Given the description of an element on the screen output the (x, y) to click on. 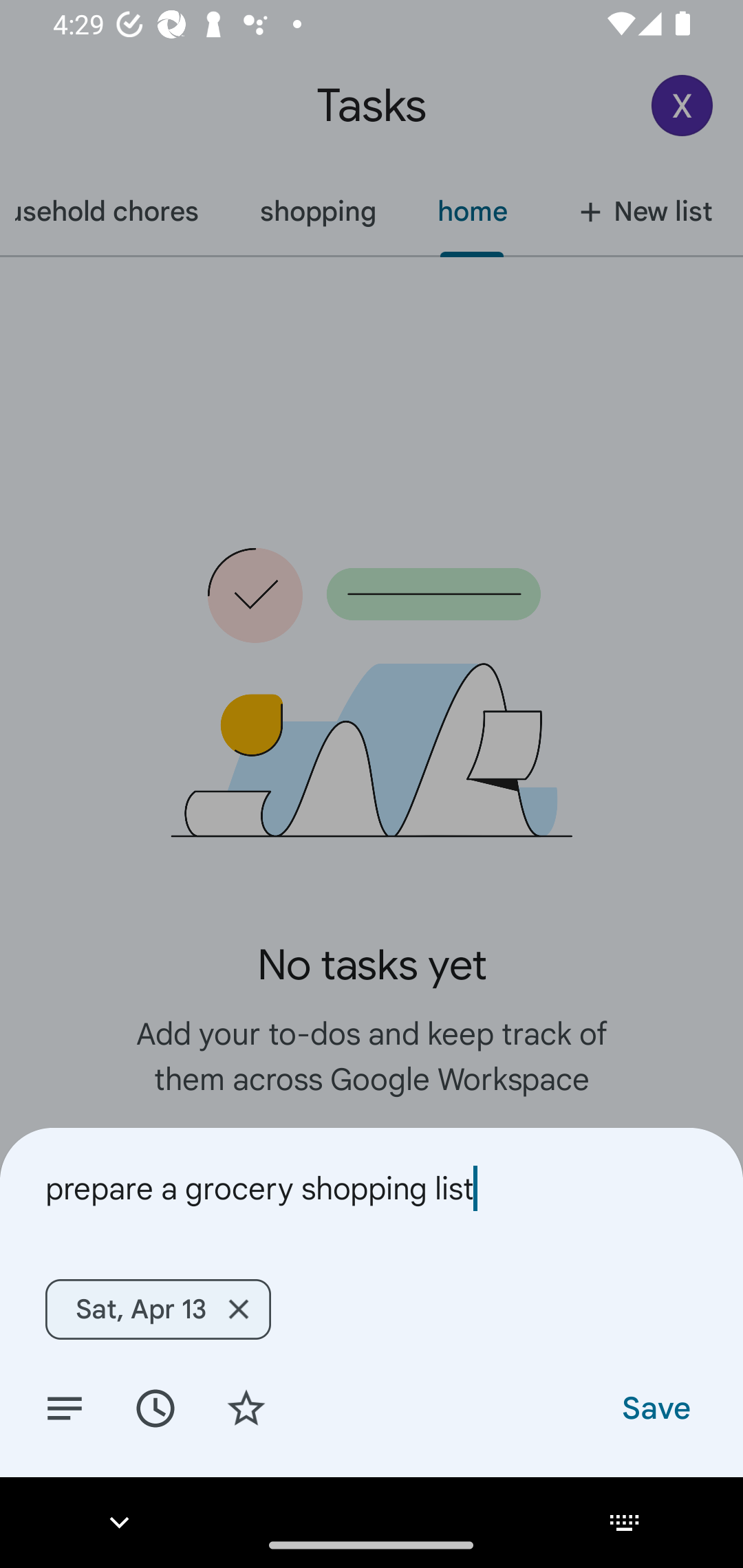
prepare a grocery shopping list (371, 1188)
Sat, Apr 13 Remove Sat, Apr 13 (158, 1308)
Save (655, 1407)
Add details (64, 1407)
Set date/time (154, 1407)
Add star (245, 1407)
